Given the description of an element on the screen output the (x, y) to click on. 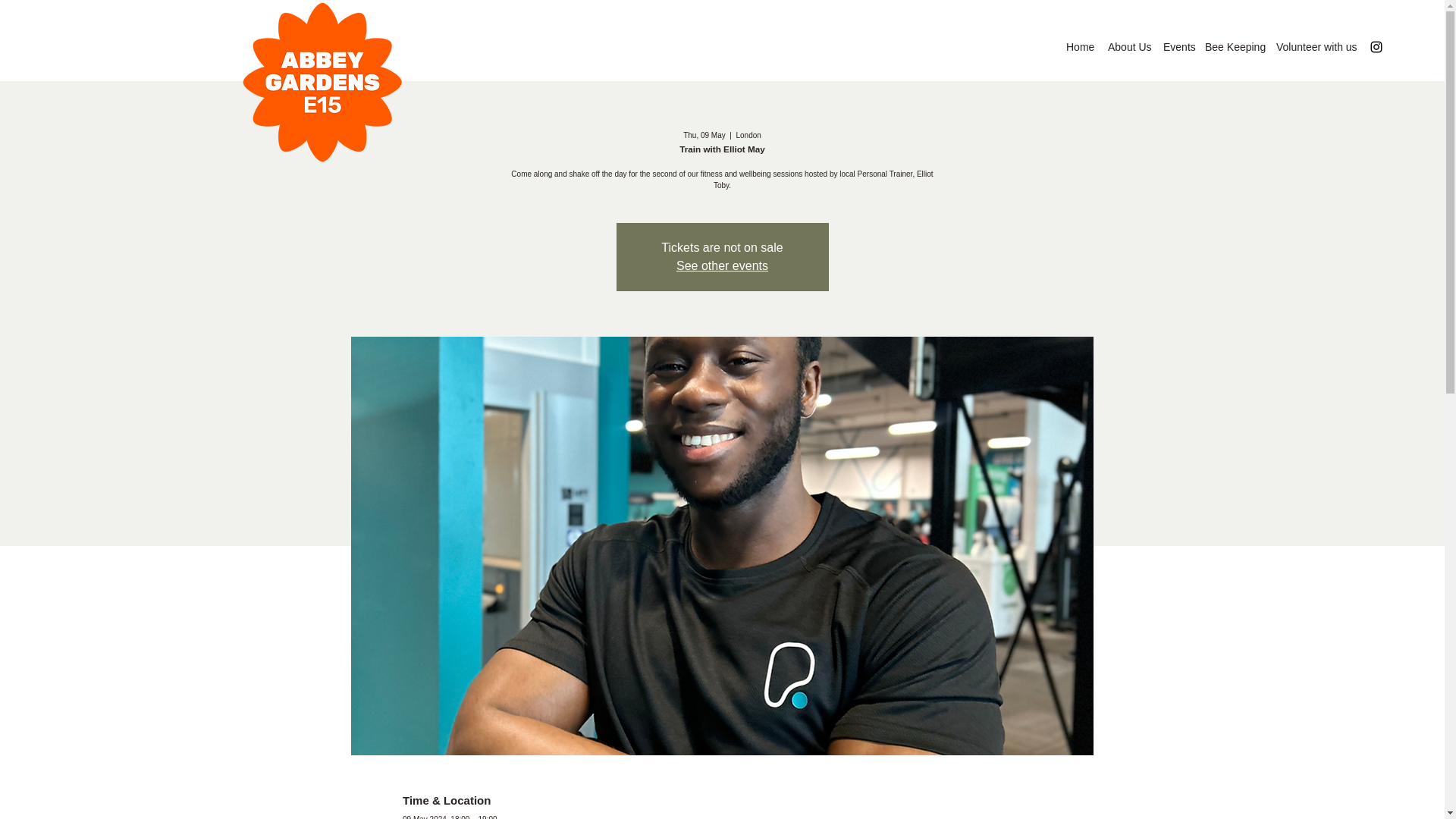
Events (1176, 47)
See other events (722, 265)
Bee Keeping (1232, 47)
About Us (1128, 47)
Volunteer with us (1312, 47)
Home (1079, 47)
